Given the description of an element on the screen output the (x, y) to click on. 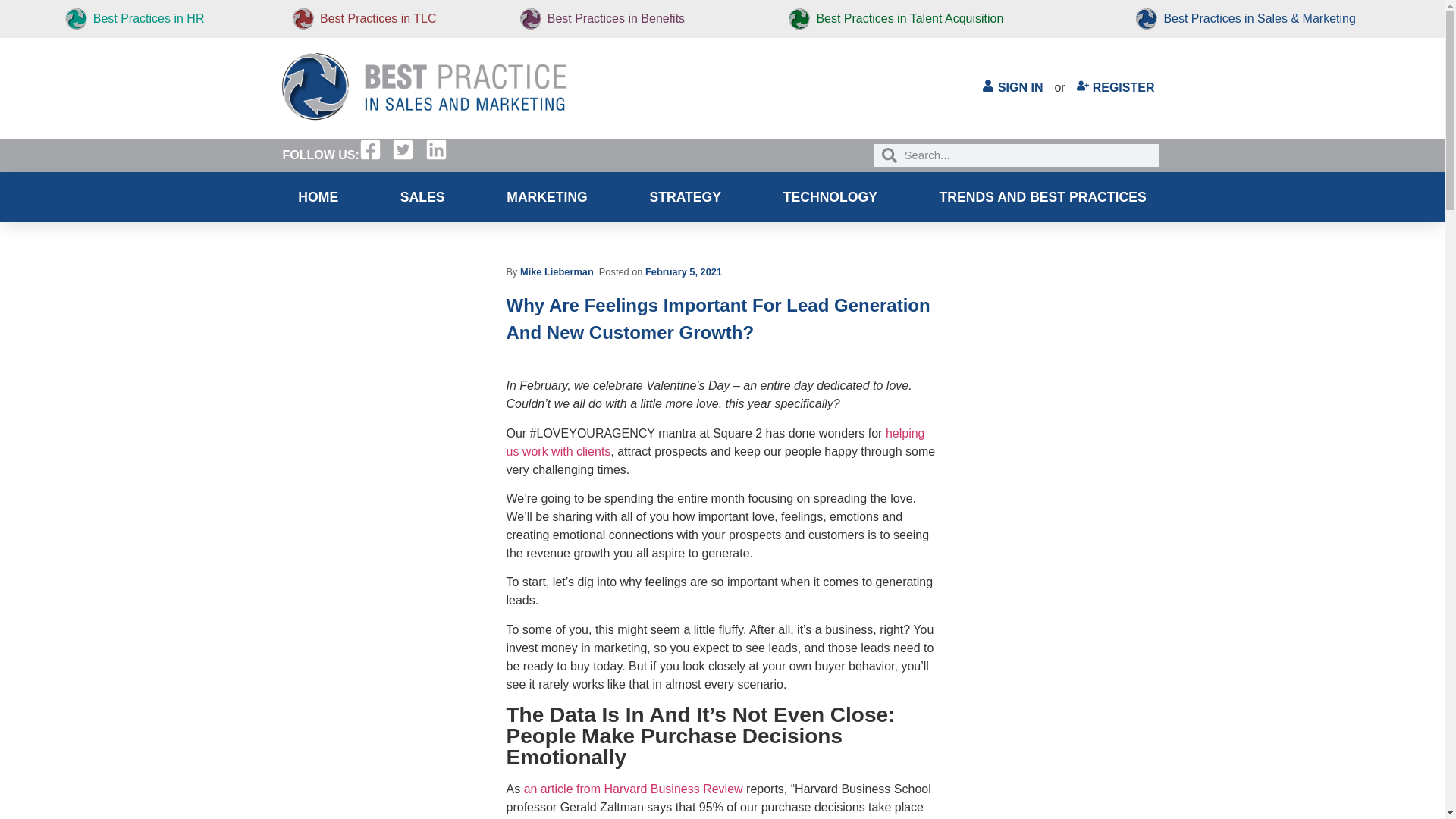
MARKETING (546, 196)
SALES (422, 196)
SIGN IN (1012, 87)
Best Practices in TLC (378, 18)
Best Practices in Benefits (615, 18)
HOME (317, 196)
helping us work with clients (715, 441)
TRENDS AND BEST PRACTICES (1042, 196)
bp-circle-talent.png (798, 18)
bp-circle-training.png (303, 18)
an article from Harvard Business Review (633, 788)
bp-circle-salesandmarketing.png (1146, 18)
REGISTER (1114, 87)
bp-circle-hr.png (76, 18)
Best Practices in Talent Acquisition (909, 18)
